Given the description of an element on the screen output the (x, y) to click on. 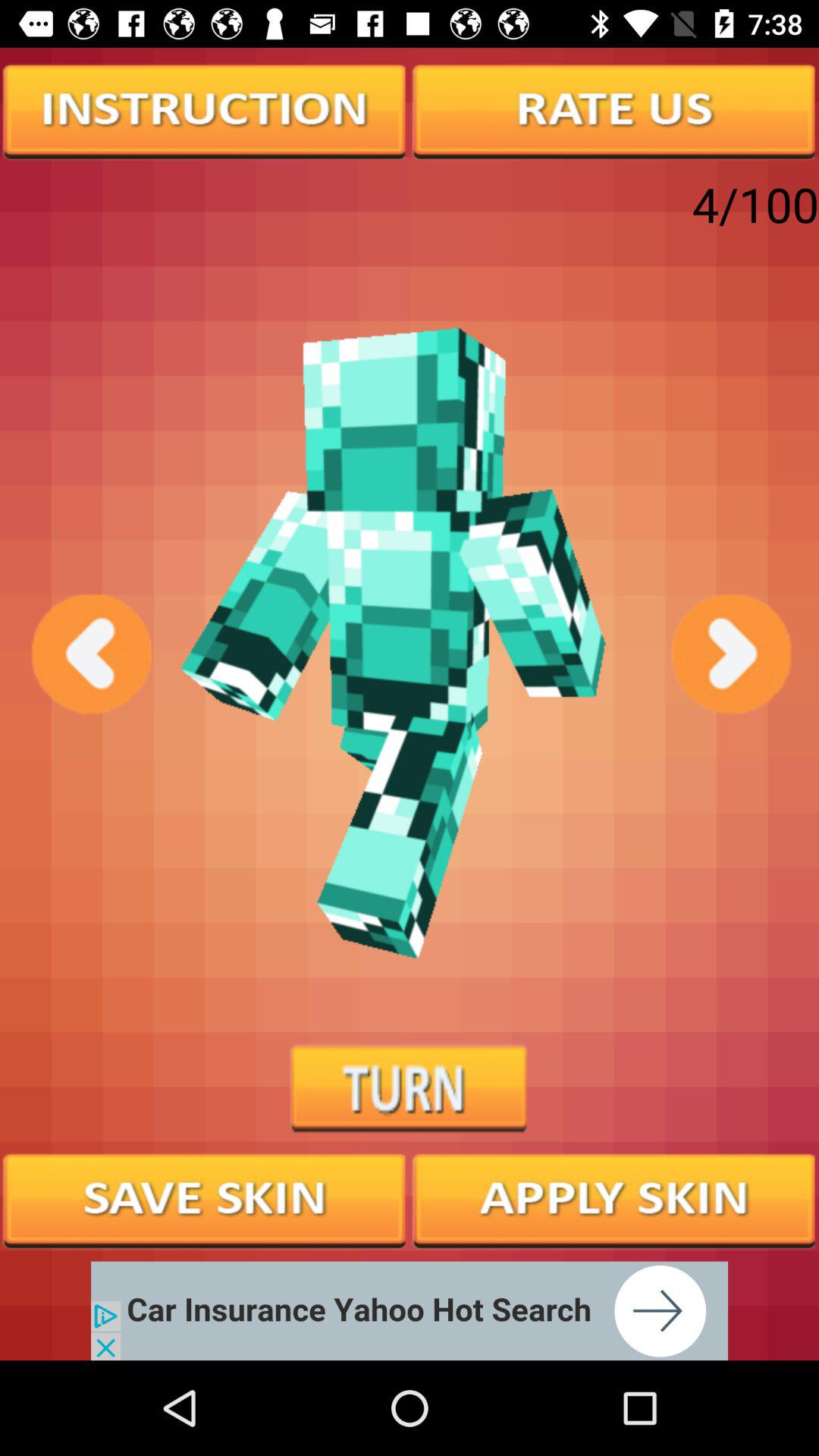
turn (409, 1088)
